Given the description of an element on the screen output the (x, y) to click on. 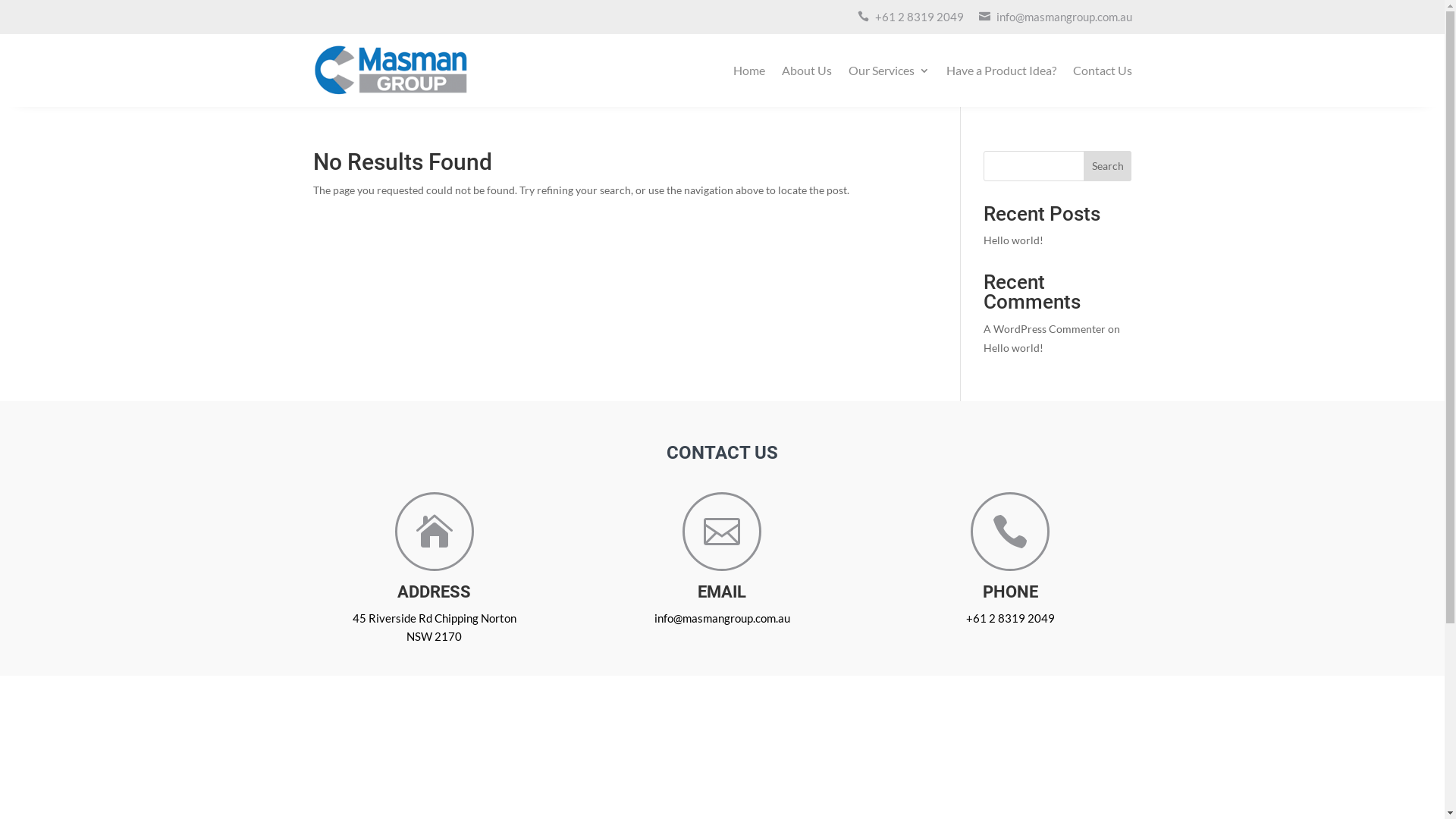
+61 2 8319 2049 Element type: text (919, 16)
About Us Element type: text (806, 70)
info@masmangroup.com.au Element type: text (1064, 16)
+61 2 8319 2049 Element type: text (1010, 617)
Home Element type: text (748, 70)
A WordPress Commenter Element type: text (1044, 328)
EMAIL Element type: text (721, 591)
Our Services Element type: text (887, 70)
PHONE Element type: text (1010, 591)
Contact Us Element type: text (1101, 70)
Have a Product Idea? Element type: text (1001, 70)
Hello world! Element type: text (1013, 239)
Search Element type: text (1107, 165)
Hello world! Element type: text (1013, 347)
info@masmangroup.com.au Element type: text (722, 617)
